Given the description of an element on the screen output the (x, y) to click on. 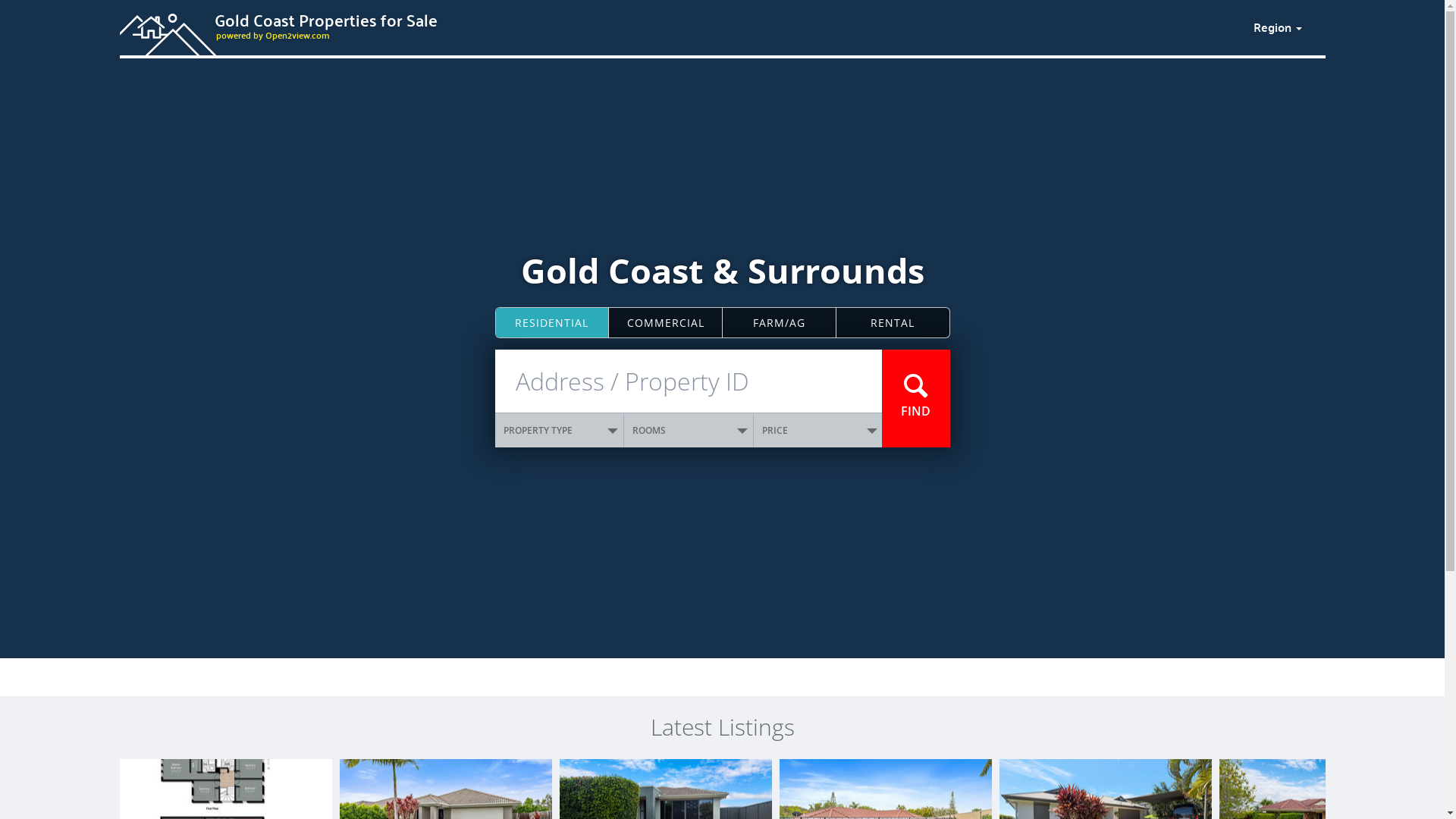
ROOMS Element type: text (688, 430)
Gold Coast Properties for Sale
powered by Open2view.com Element type: text (676, 25)
PRICE Element type: text (817, 430)
PROPERTY TYPE Element type: text (559, 430)
